Given the description of an element on the screen output the (x, y) to click on. 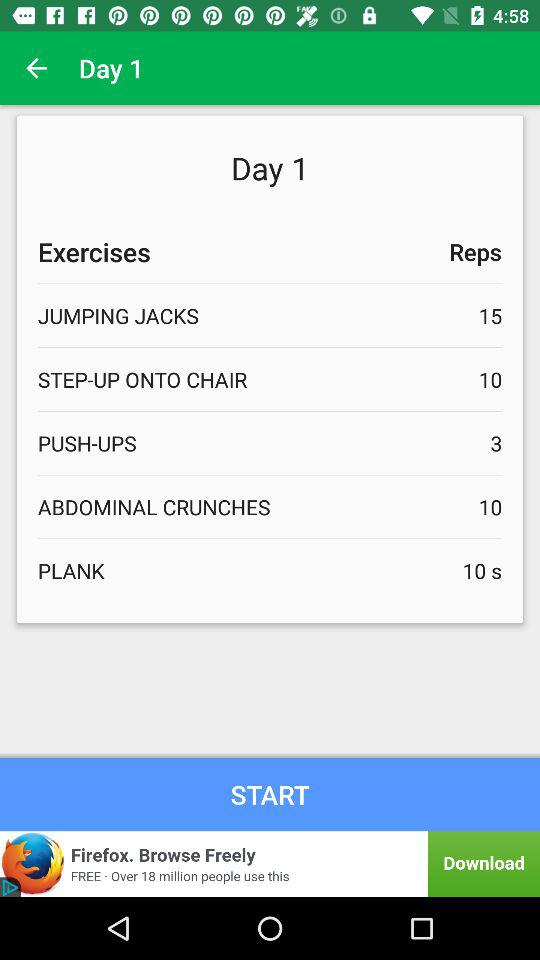
download firefox (270, 864)
